Given the description of an element on the screen output the (x, y) to click on. 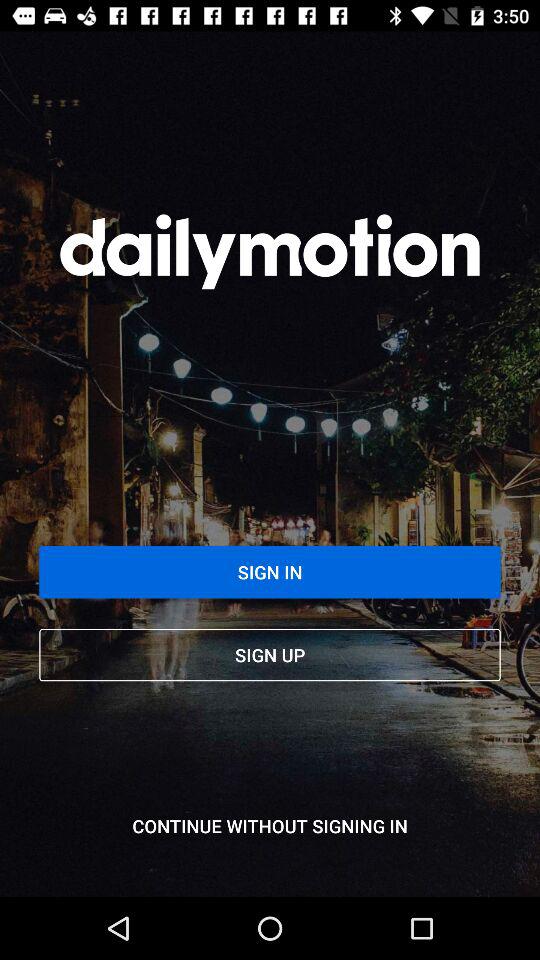
launch the icon below the sign in icon (269, 654)
